Given the description of an element on the screen output the (x, y) to click on. 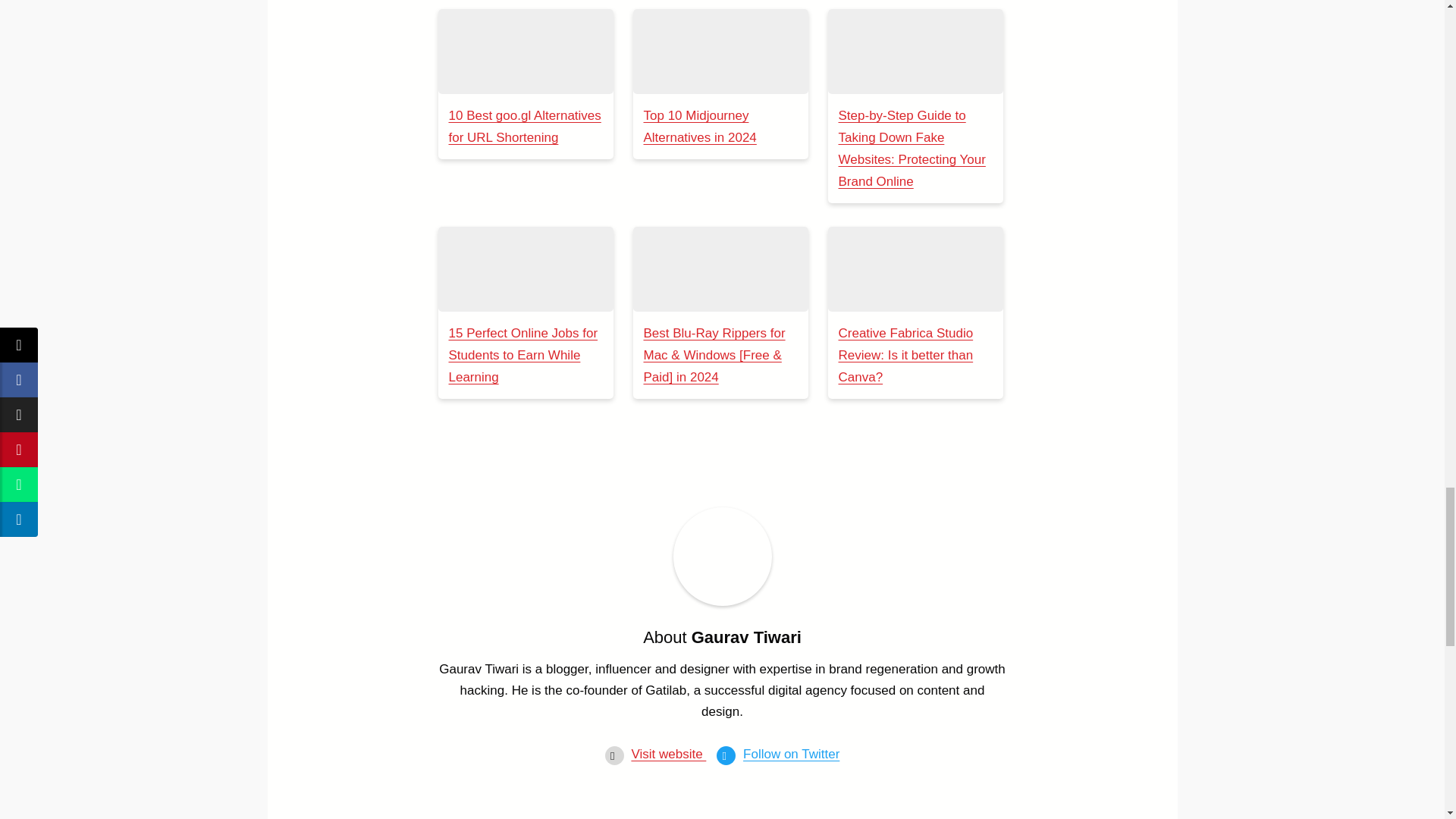
Visit website (668, 753)
Top 10 Midjourney Alternatives in 2024 (699, 126)
Top 10 Midjourney Alternatives in 2024 (719, 51)
15 Perfect Online Jobs for Students to Earn While Learning (525, 269)
Creative Fabrica Studio Review: Is it better than Canva? (915, 269)
Follow on Twitter (791, 753)
10 Best goo.gl Alternatives for URL Shortening (525, 51)
15 Perfect Online Jobs for Students to Earn While Learning (523, 354)
10 Best goo.gl Alternatives for URL Shortening (524, 126)
Creative Fabrica Studio Review: Is it better than Canva? (906, 354)
